Given the description of an element on the screen output the (x, y) to click on. 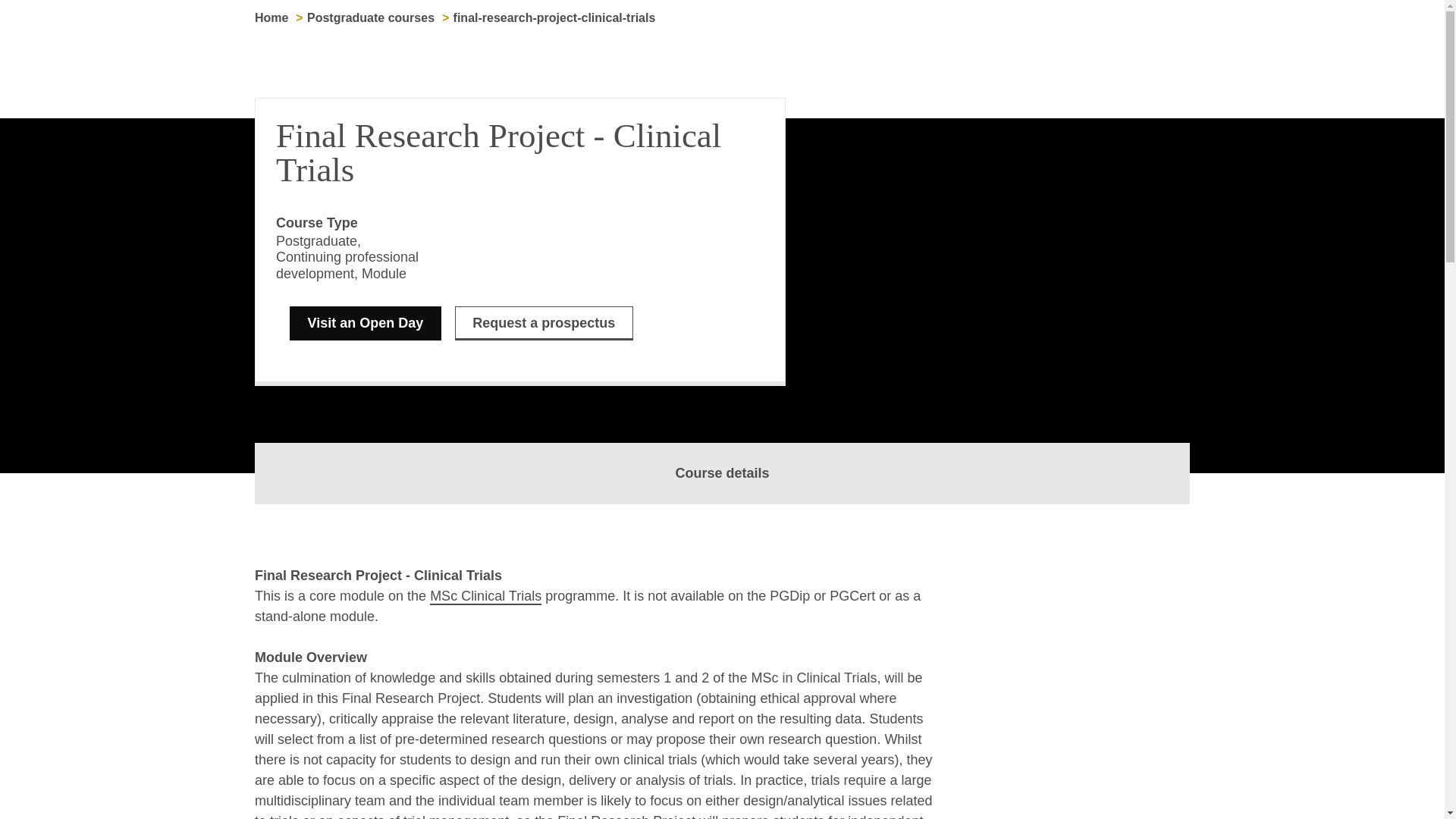
final-research-project-clinical-trials (554, 18)
Home (271, 18)
Visit an Open Day (365, 323)
MSc Clinical Trials (485, 596)
Postgraduate courses (370, 18)
Request a prospectus (543, 323)
